Given the description of an element on the screen output the (x, y) to click on. 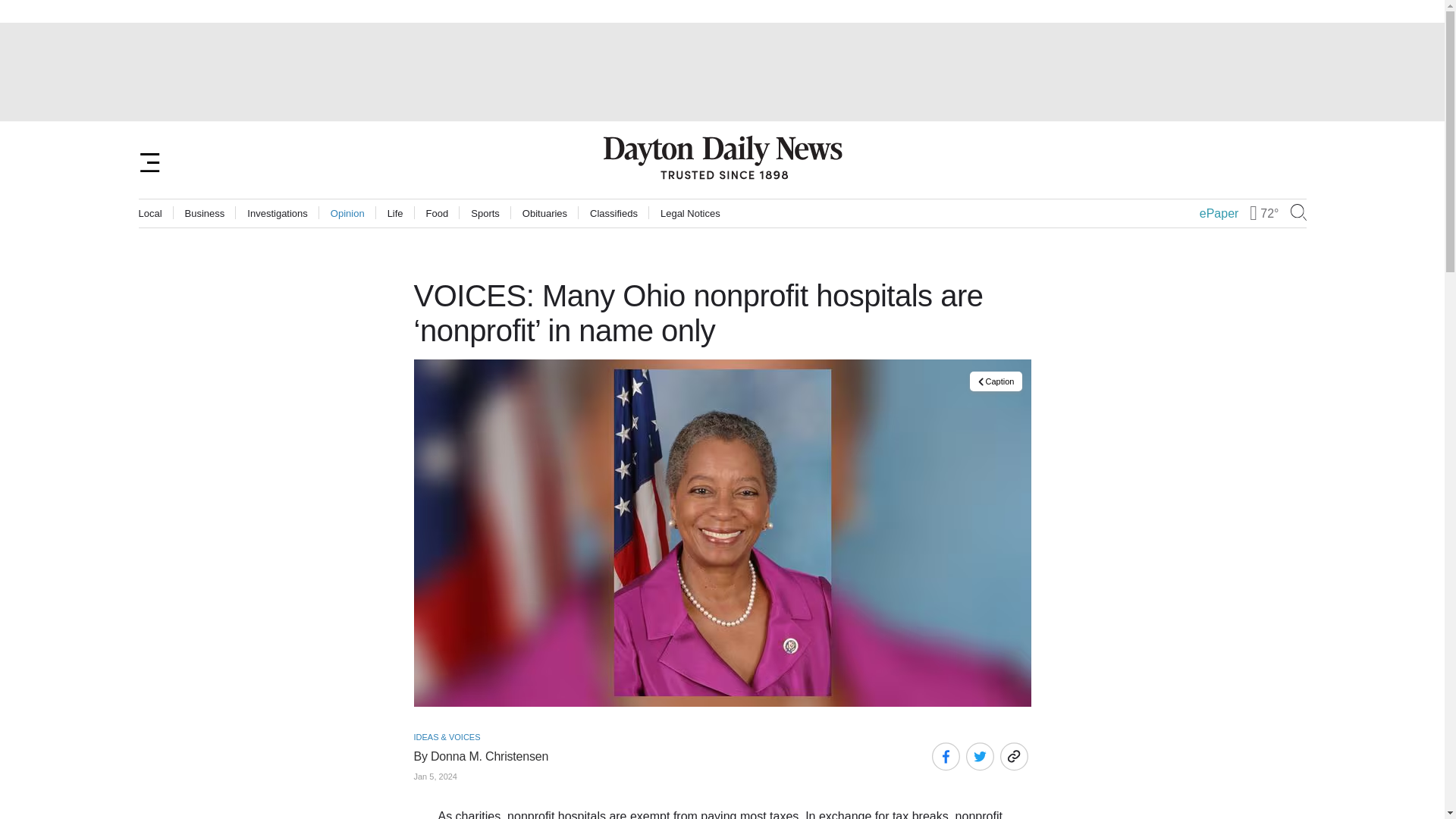
Sports (484, 213)
Opinion (347, 213)
Local (149, 213)
ePaper (1219, 214)
Business (204, 213)
Investigations (277, 213)
Legal Notices (690, 213)
Food (437, 213)
Obituaries (544, 213)
Classifieds (613, 213)
Life (395, 213)
